Given the description of an element on the screen output the (x, y) to click on. 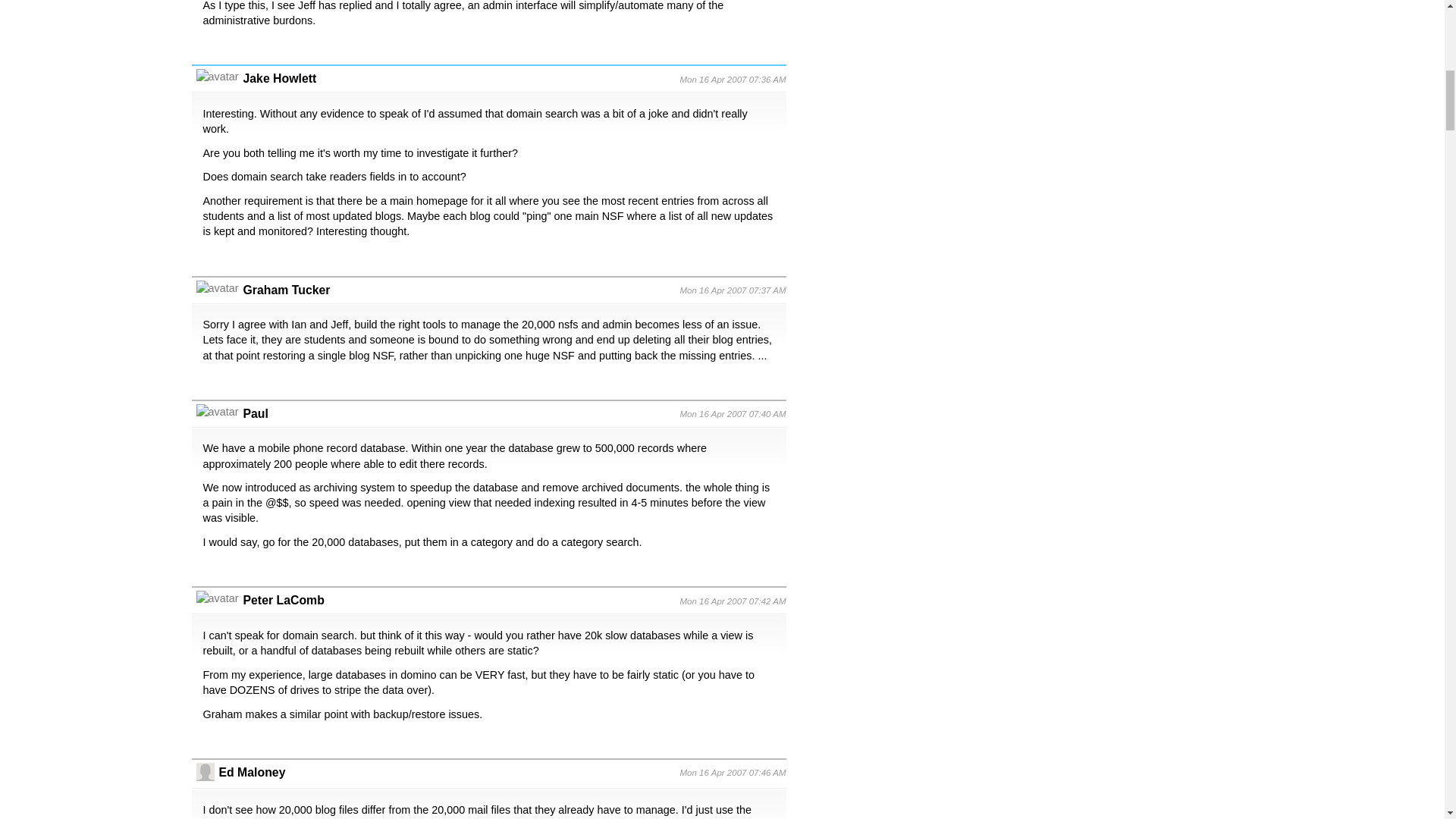
Peter LaComb (283, 599)
Paul (255, 413)
Click to Email (283, 599)
Graham Tucker (286, 289)
